Given the description of an element on the screen output the (x, y) to click on. 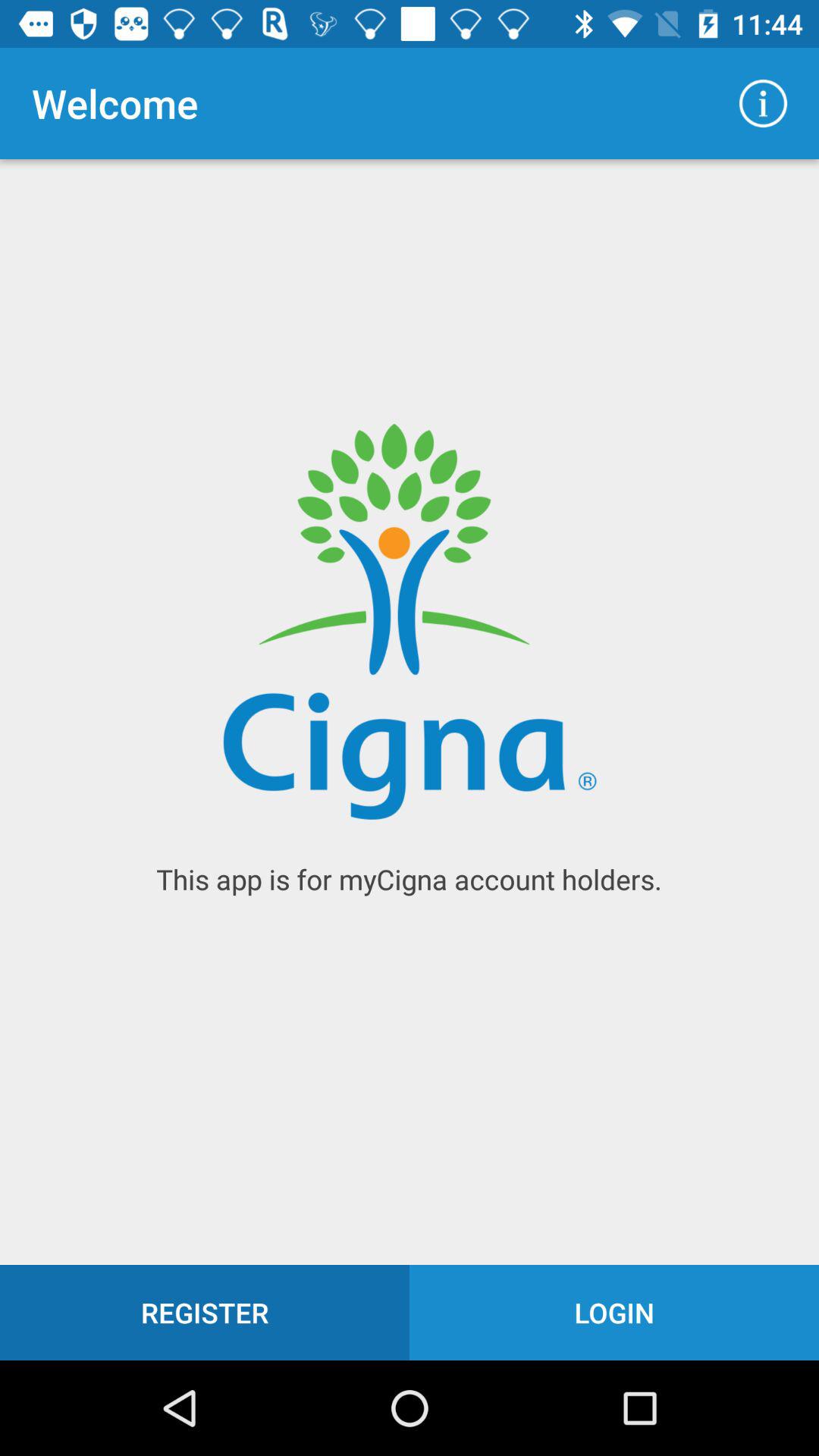
swipe until register item (204, 1312)
